Given the description of an element on the screen output the (x, y) to click on. 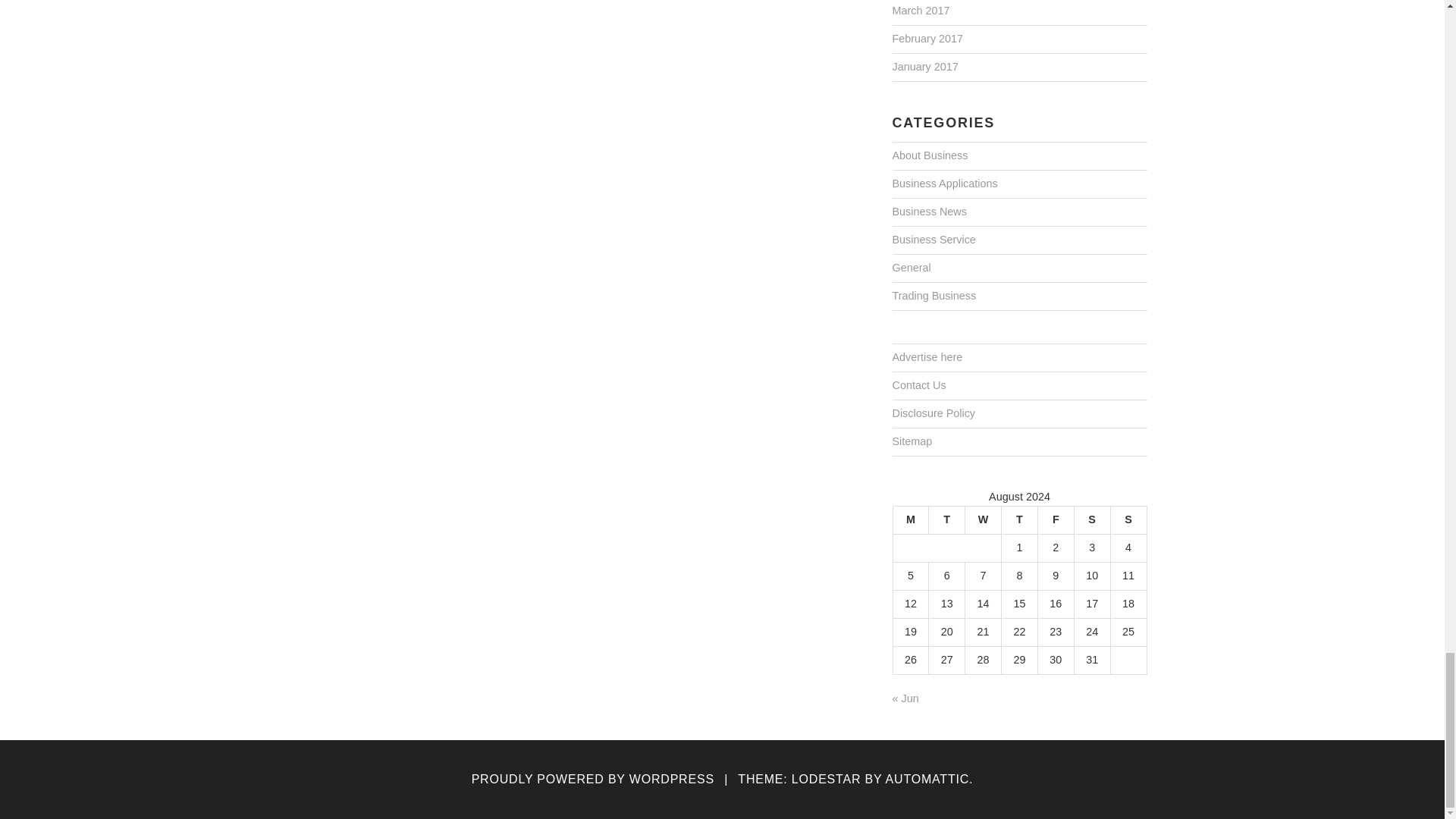
Friday (1055, 519)
Wednesday (983, 519)
Sunday (1128, 519)
Thursday (1019, 519)
Monday (910, 519)
Saturday (1091, 519)
Tuesday (946, 519)
